Given the description of an element on the screen output the (x, y) to click on. 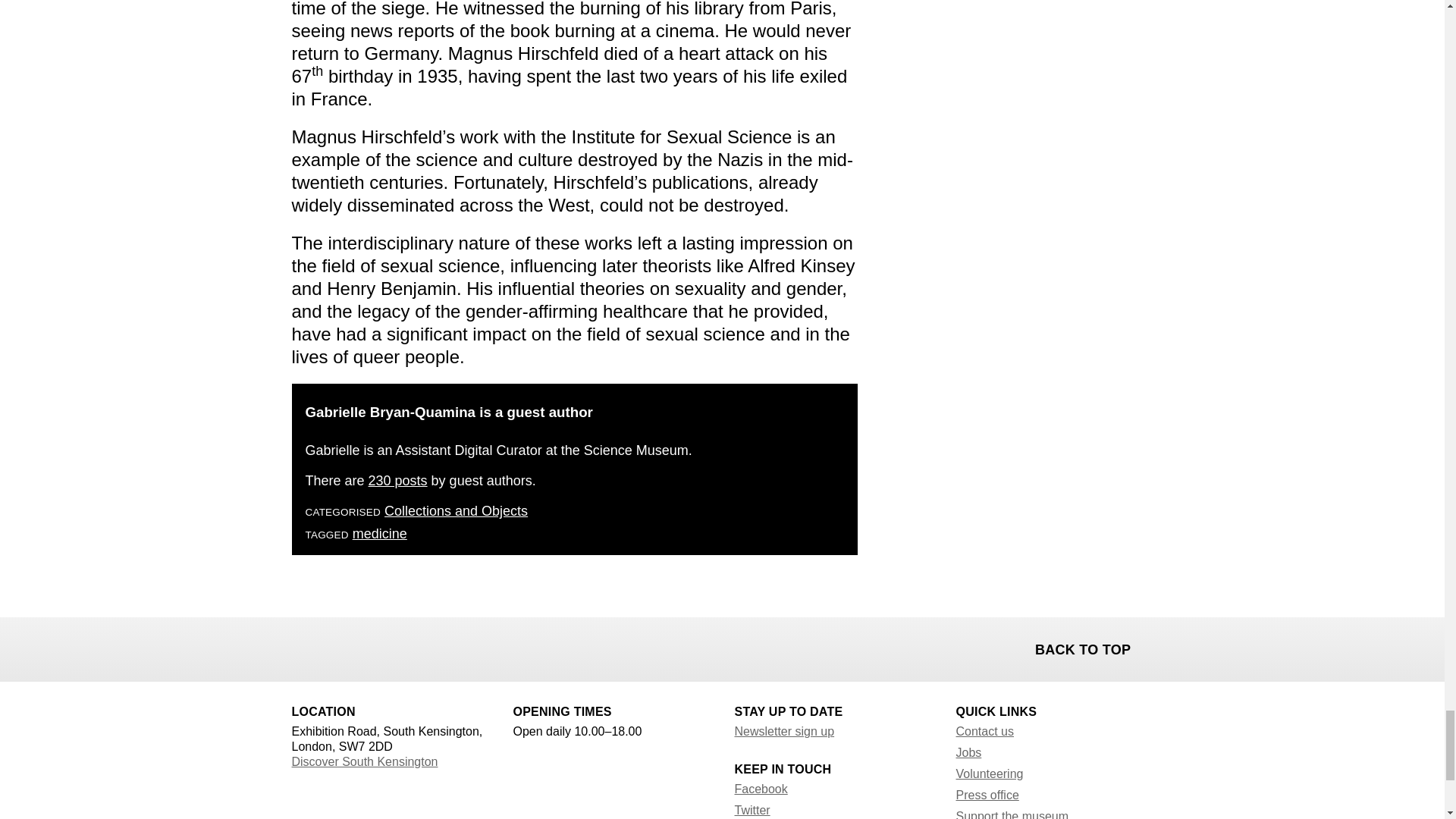
Tweet this (344, 647)
Share on facebook (304, 647)
230 posts (398, 480)
medicine (379, 533)
Share by email (384, 647)
Collections and Objects (455, 510)
